Given the description of an element on the screen output the (x, y) to click on. 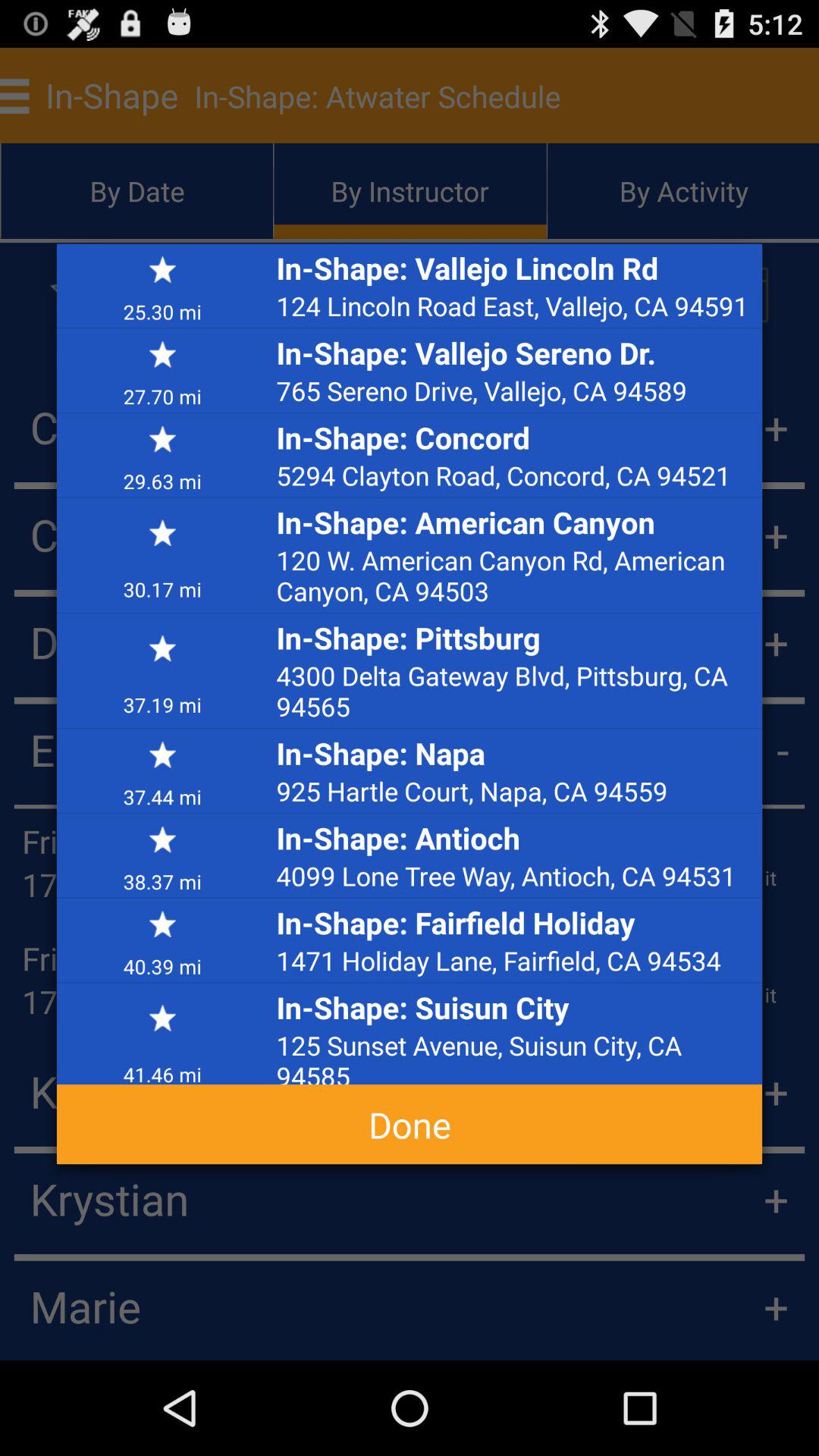
jump until done (409, 1124)
